Given the description of an element on the screen output the (x, y) to click on. 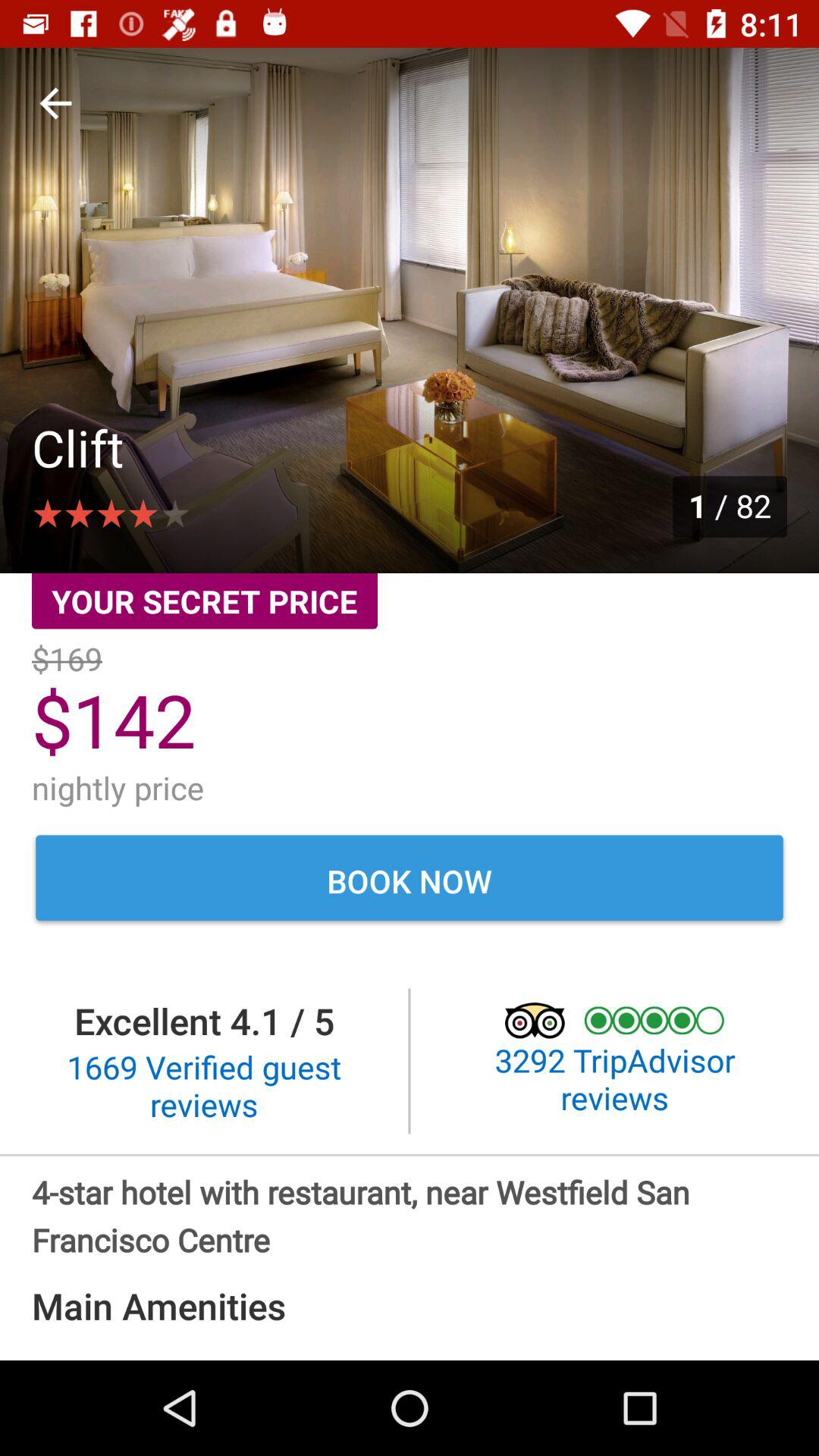
swipe to the book now (409, 880)
